Given the description of an element on the screen output the (x, y) to click on. 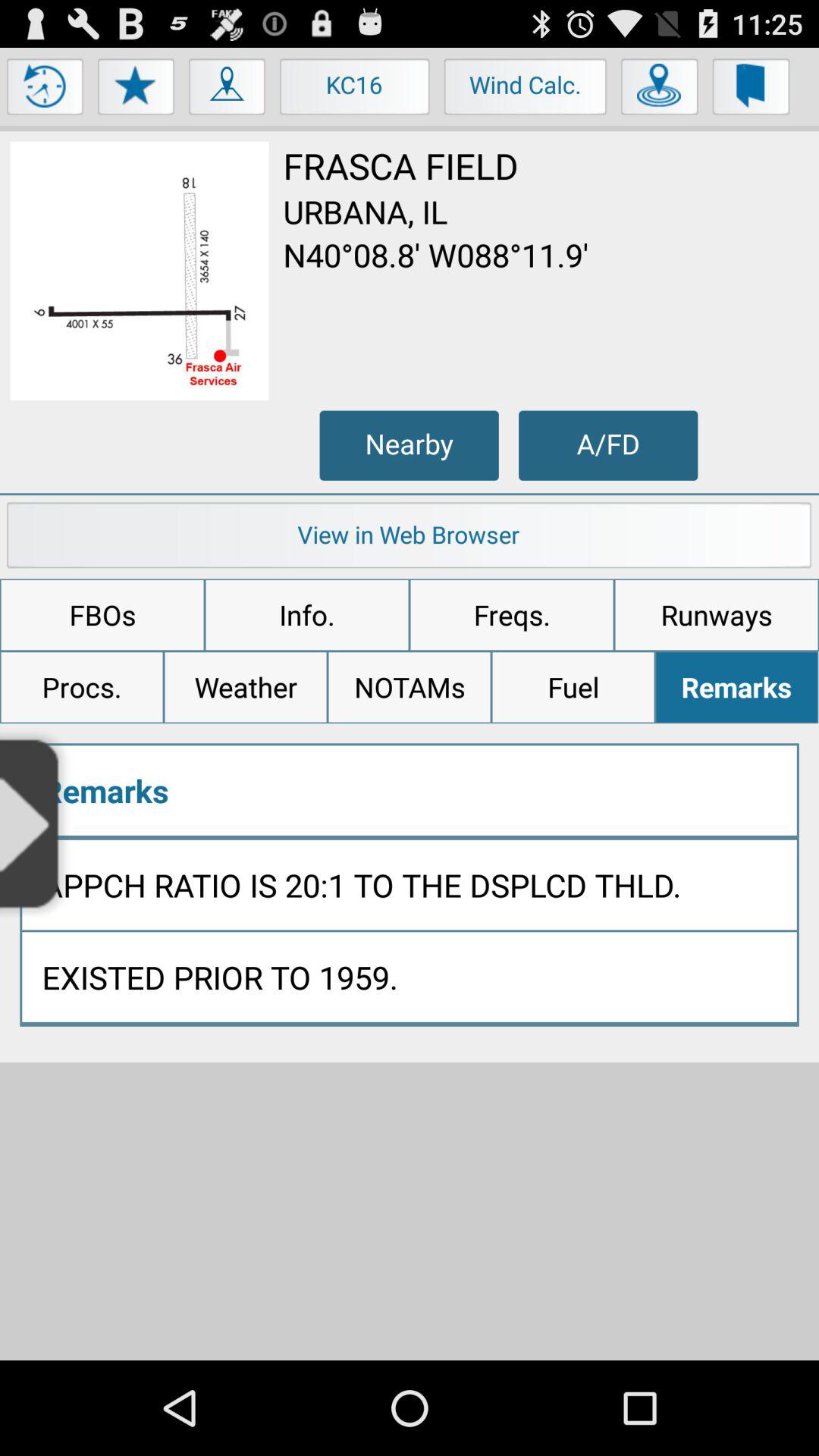
find location (659, 90)
